Given the description of an element on the screen output the (x, y) to click on. 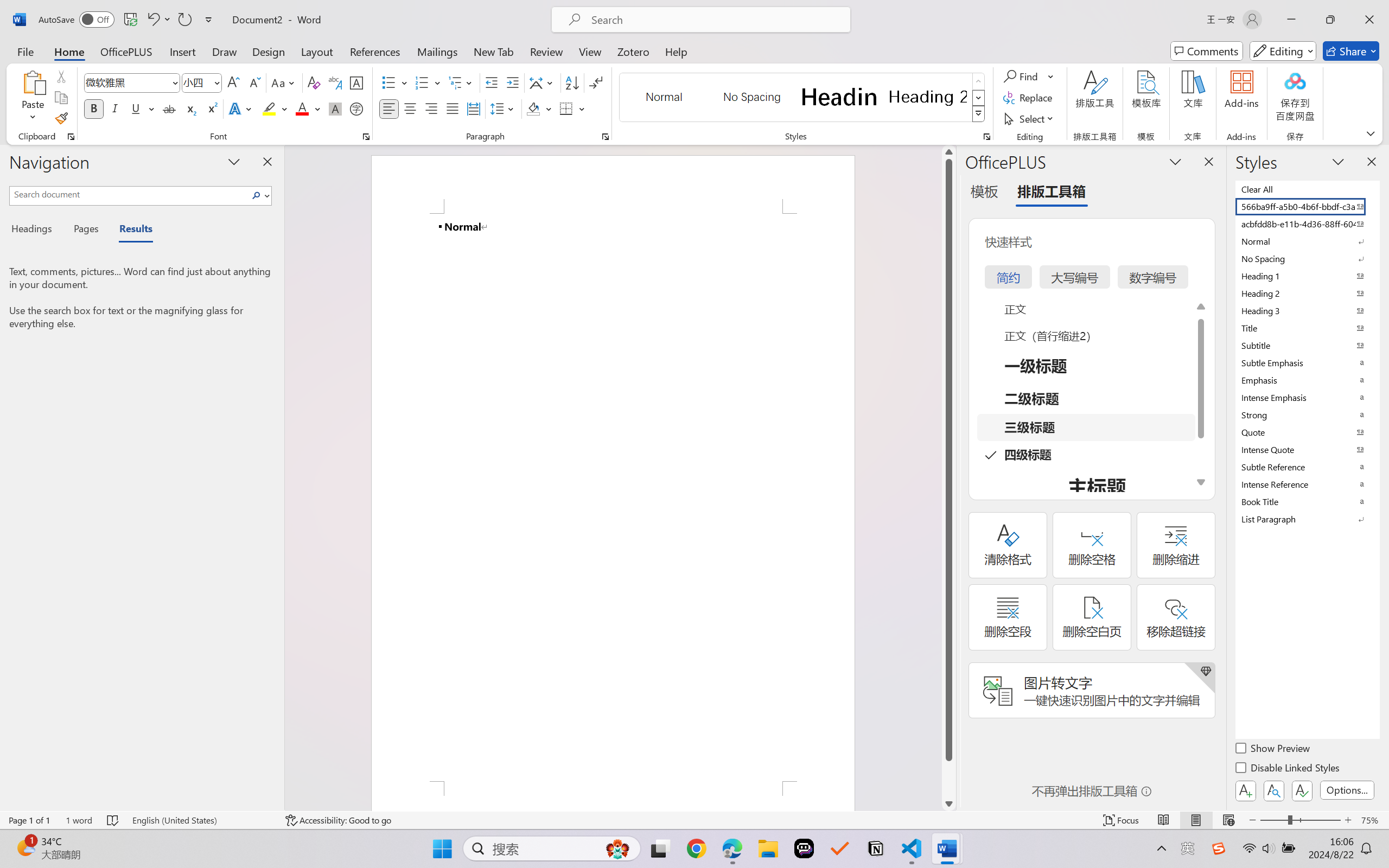
Bullets (395, 82)
Multilevel List (461, 82)
Search (256, 195)
Print Layout (1196, 819)
AutomationID: DynamicSearchBoxGleamImage (617, 848)
File Tab (24, 51)
Zotero (632, 51)
Bullets (388, 82)
Replace... (1029, 97)
Clear Formatting (313, 82)
More Options (1051, 75)
Disable Linked Styles (1287, 769)
Comments (1206, 50)
